Given the description of an element on the screen output the (x, y) to click on. 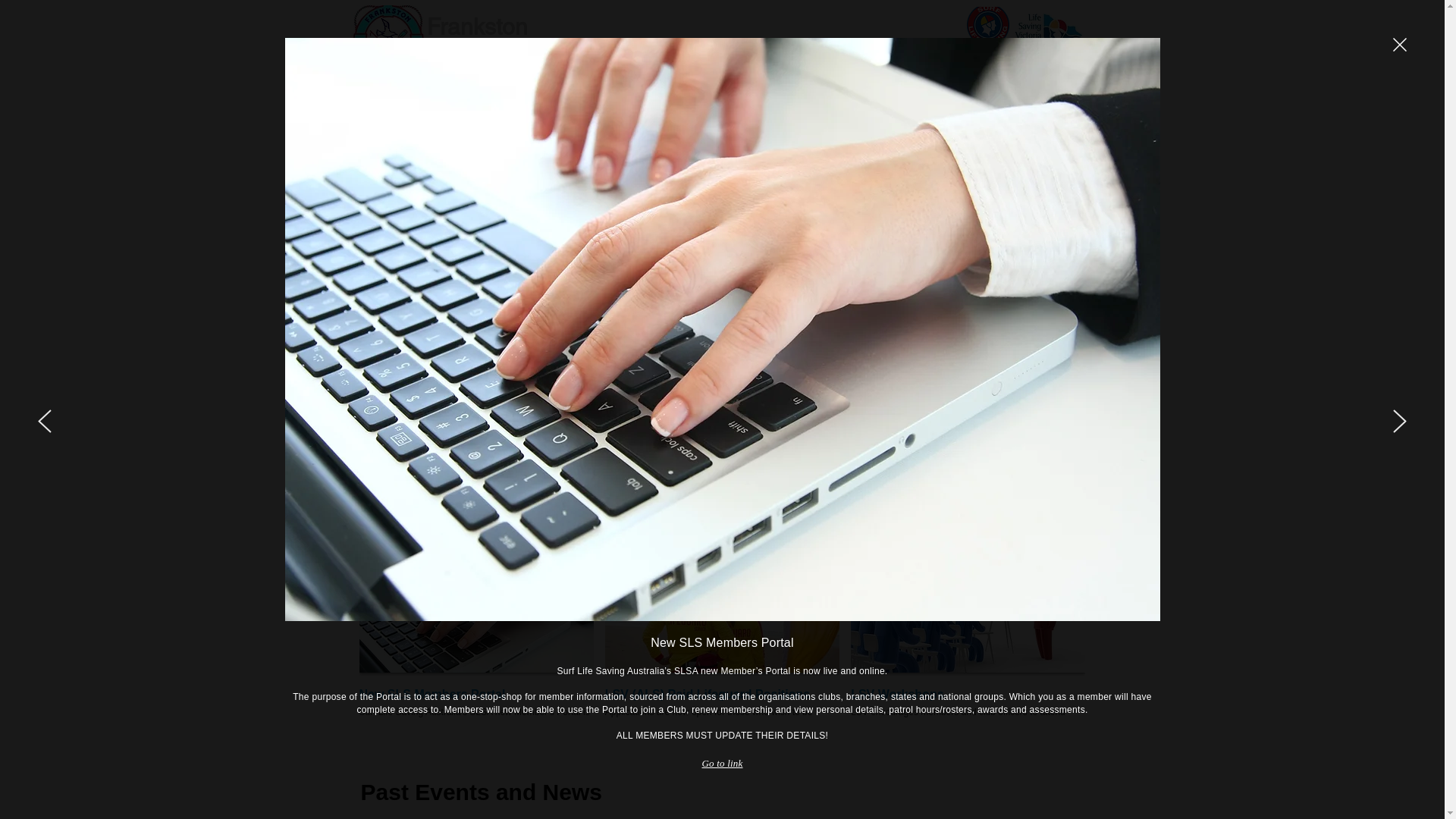
Go to link Element type: text (722, 763)
